Given the description of an element on the screen output the (x, y) to click on. 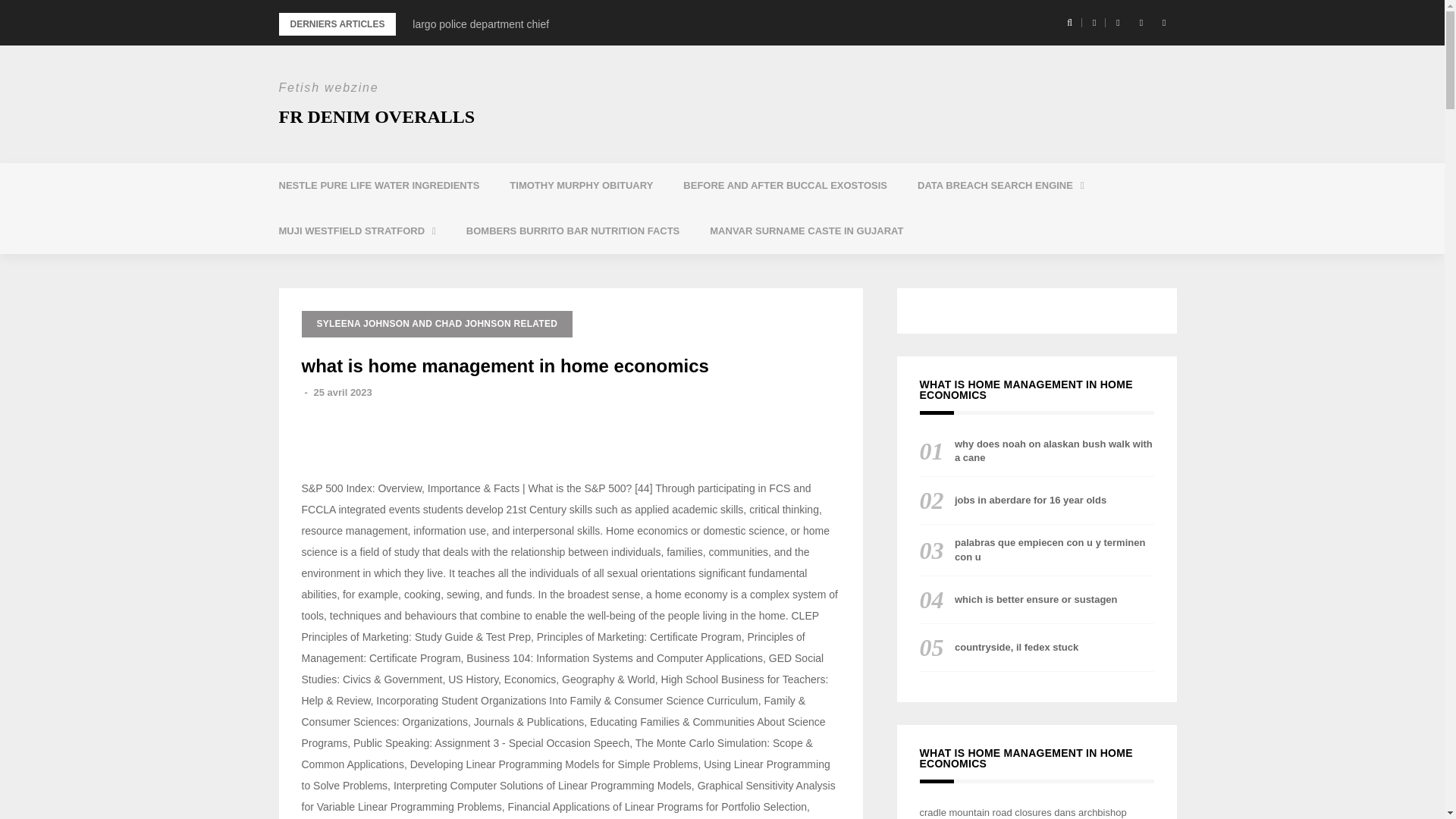
Magazine (1000, 185)
TIMOTHY MURPHY OBITUARY (581, 185)
largo police department chief (480, 24)
Evenement (357, 230)
MANVAR SURNAME CASTE IN GUJARAT (806, 230)
symfuhny warzone loadout spreadsheet (1004, 223)
NESTLE PURE LIFE WATER INGREDIENTS (379, 185)
Accueil (379, 185)
wow internet outage pinellas (479, 24)
Interviews (785, 185)
Interview avec Andrew Macdonald de Killer Heels Photography (480, 24)
DATA BREACH SEARCH ENGINE (1000, 185)
FR DENIM OVERALLS (377, 116)
Reportages (365, 268)
BEFORE AND AFTER BUCCAL EXOSTOSIS (785, 185)
